Given the description of an element on the screen output the (x, y) to click on. 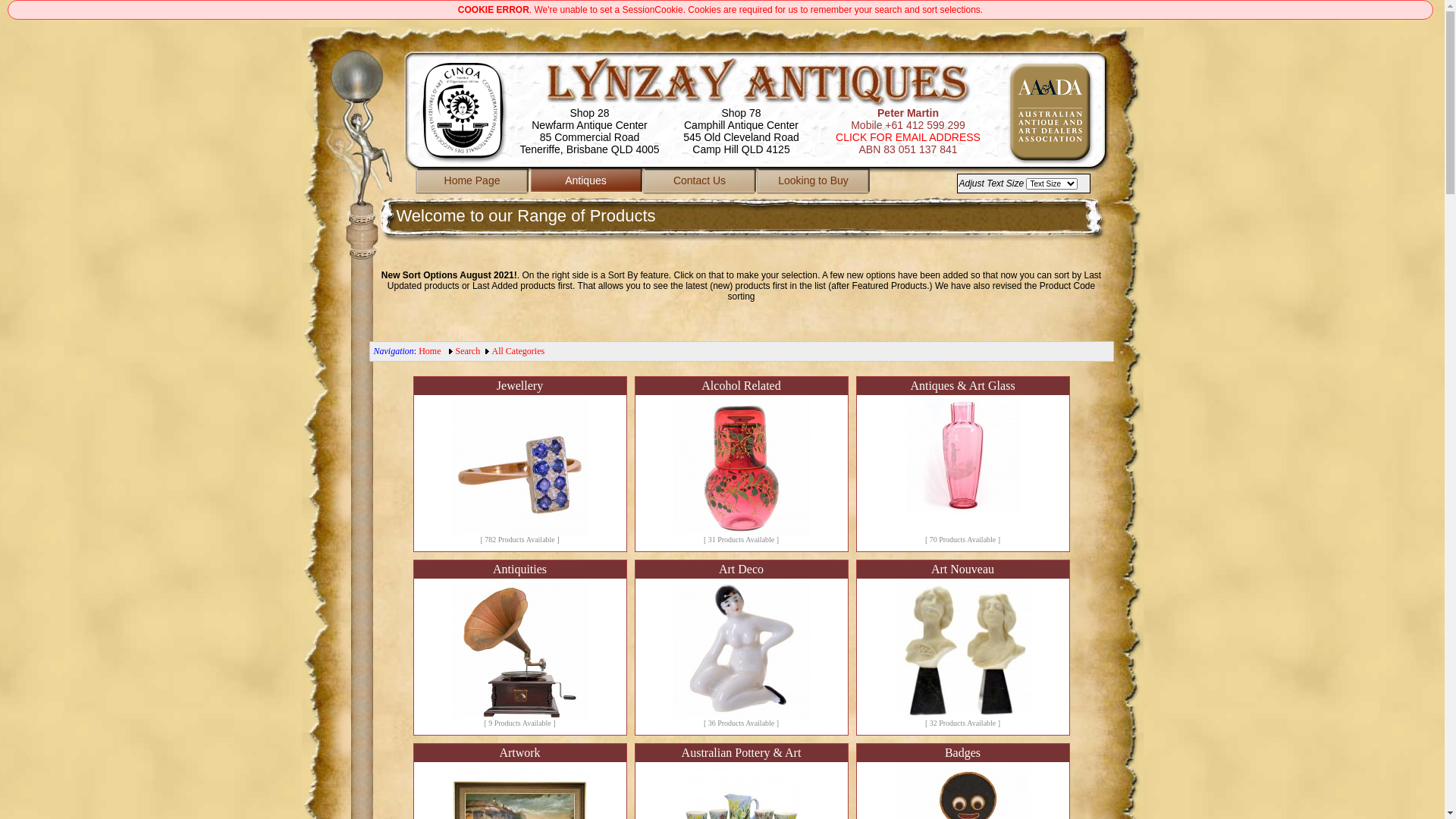
Search Element type: text (467, 350)
Alcohol Related
[ 31 Products Available ] Element type: text (740, 464)
Jewellery
[ 782 Products Available ] Element type: text (519, 464)
Antiquities
[ 9 Products Available ] Element type: text (519, 647)
Art Deco
[ 36 Products Available ] Element type: text (740, 647)
Antiques Element type: text (586, 182)
CLICK FOR EMAIL ADDRESS Element type: text (908, 137)
Looking to Buy Element type: text (813, 182)
Home Page Element type: text (472, 182)
Antiques & Art Glass
[ 70 Products Available ] Element type: text (962, 464)
All Categories Element type: text (518, 350)
Art Nouveau
[ 32 Products Available ] Element type: text (962, 647)
Contact Us Element type: text (699, 182)
Home Element type: text (429, 350)
